Given the description of an element on the screen output the (x, y) to click on. 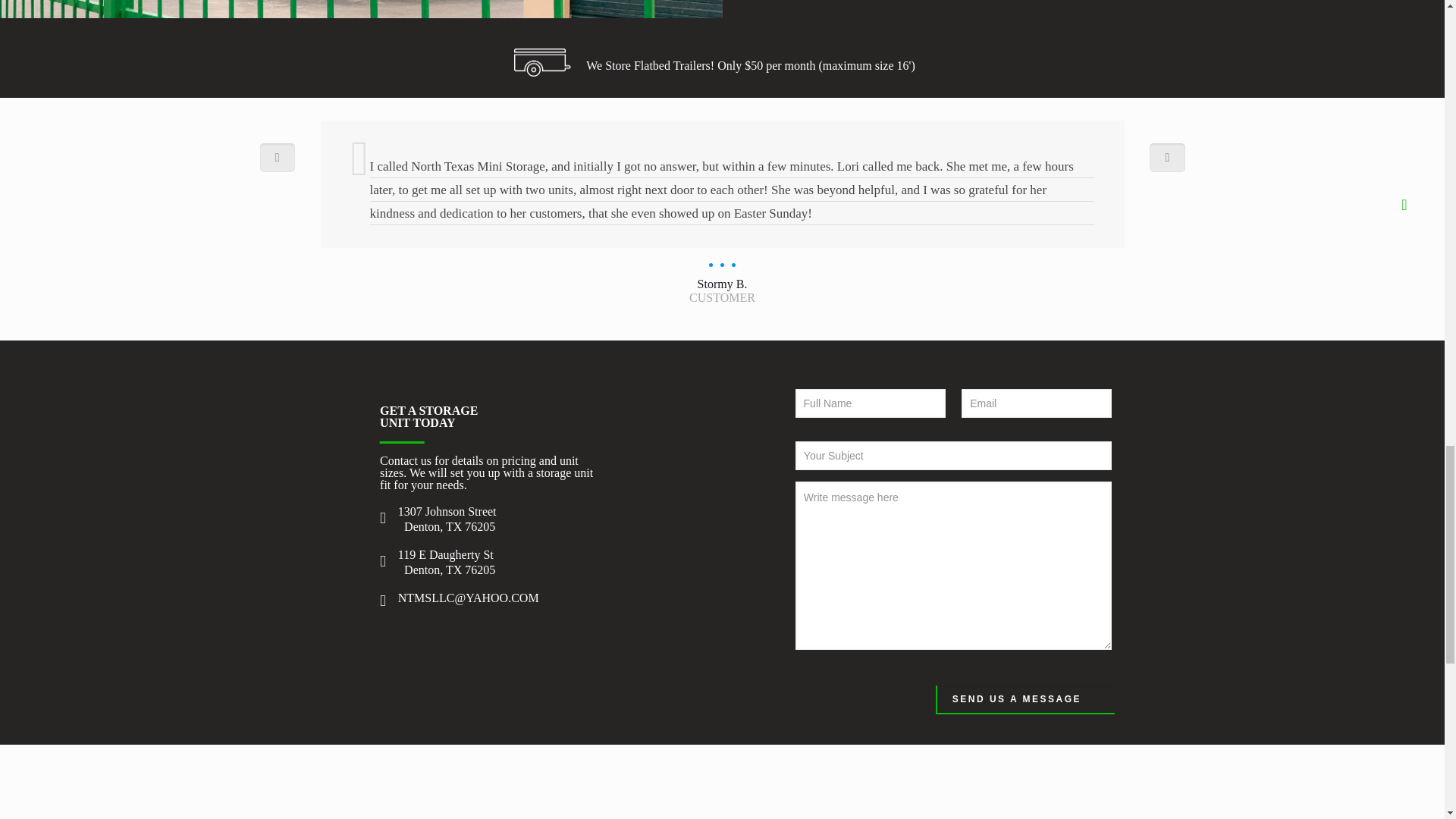
SEND US A MESSAGE (1025, 699)
